Given the description of an element on the screen output the (x, y) to click on. 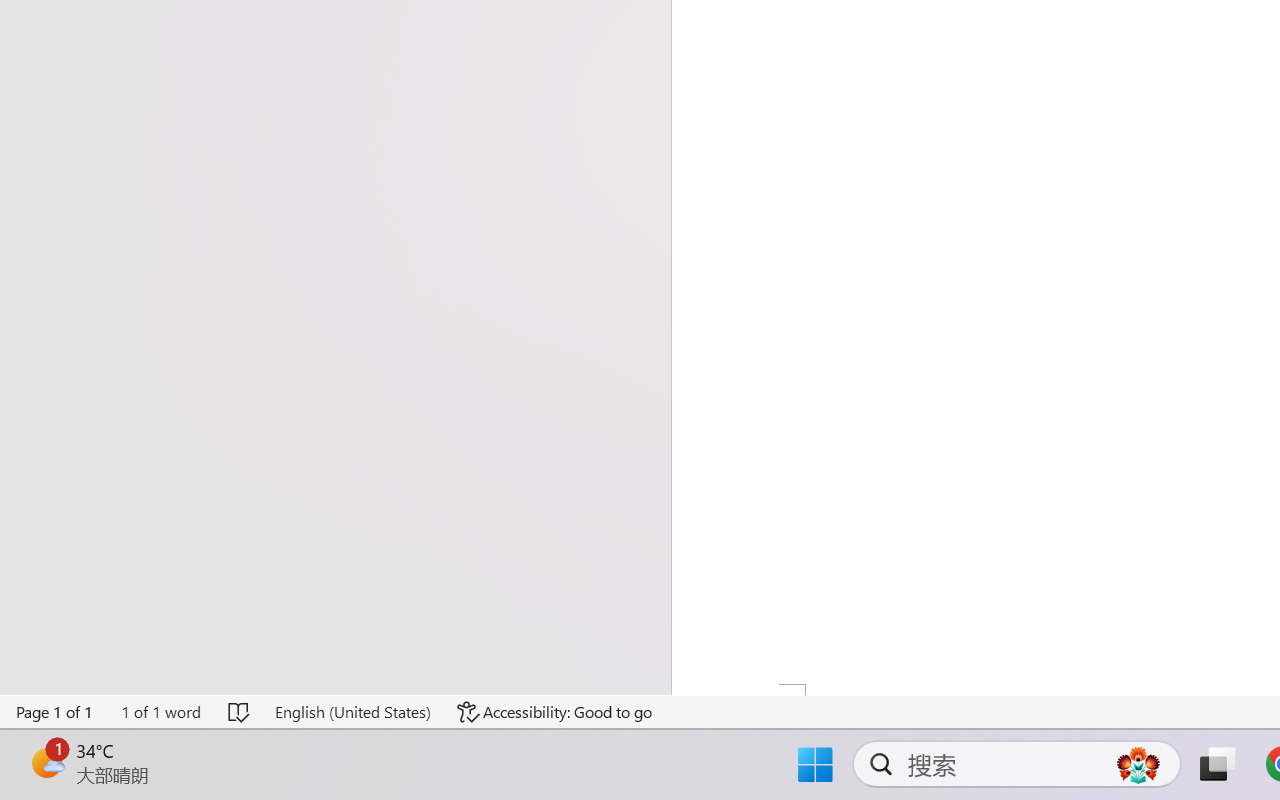
Page Number Page 1 of 1 (55, 712)
